Given the description of an element on the screen output the (x, y) to click on. 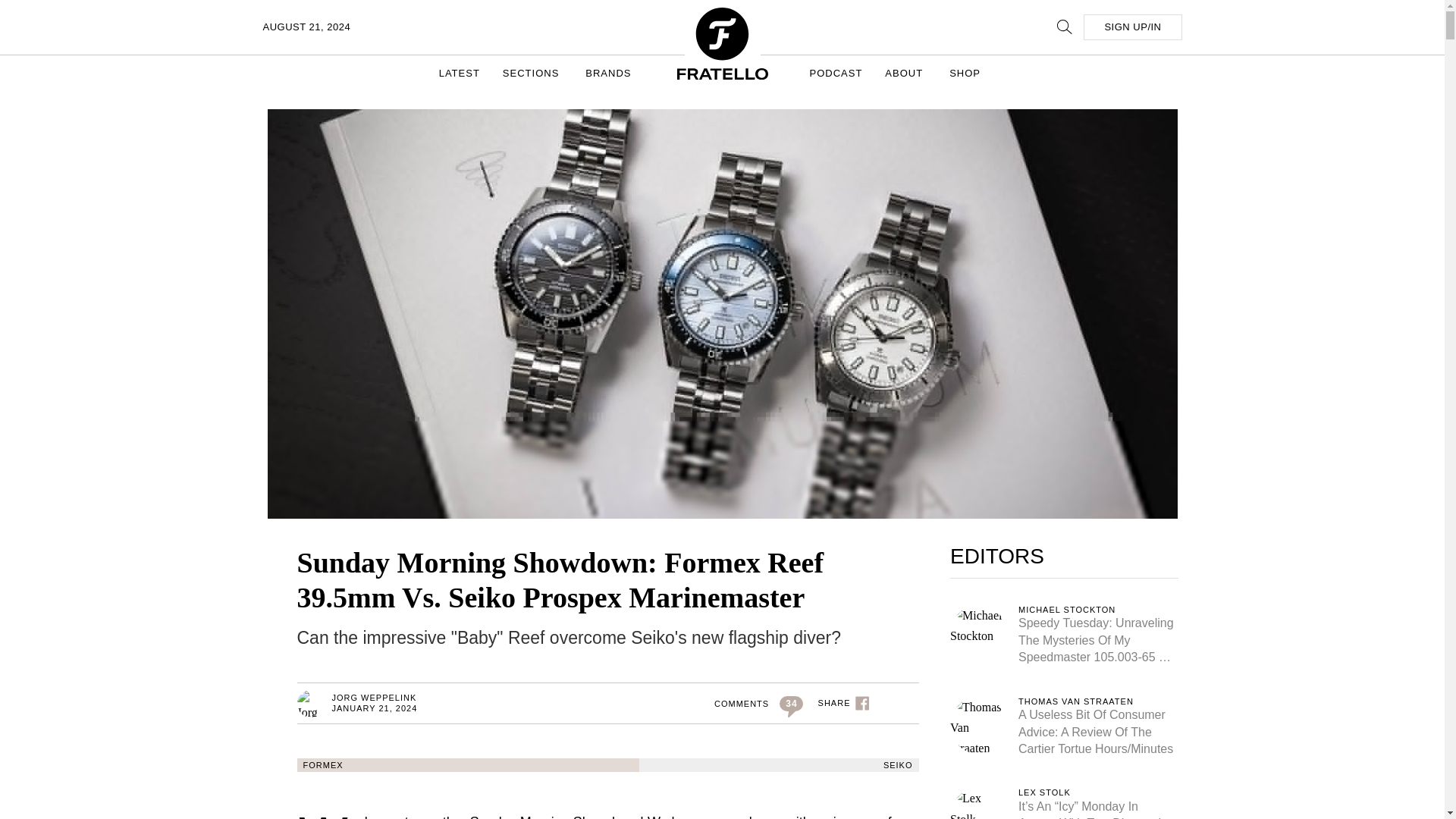
SECTIONS (532, 72)
BRANDS (609, 72)
LATEST (460, 72)
